Given the description of an element on the screen output the (x, y) to click on. 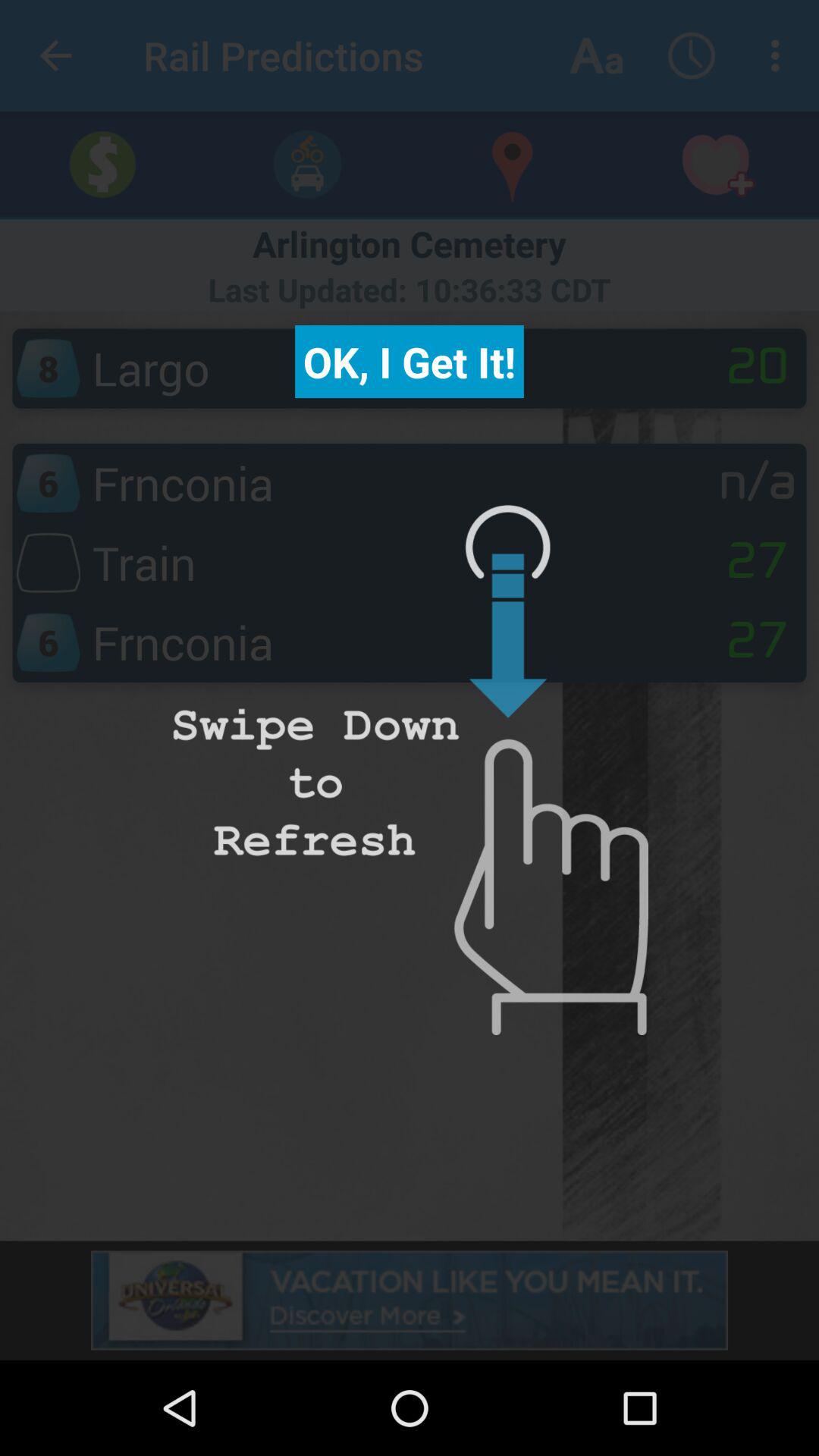
scroll until the ok i get item (409, 361)
